Given the description of an element on the screen output the (x, y) to click on. 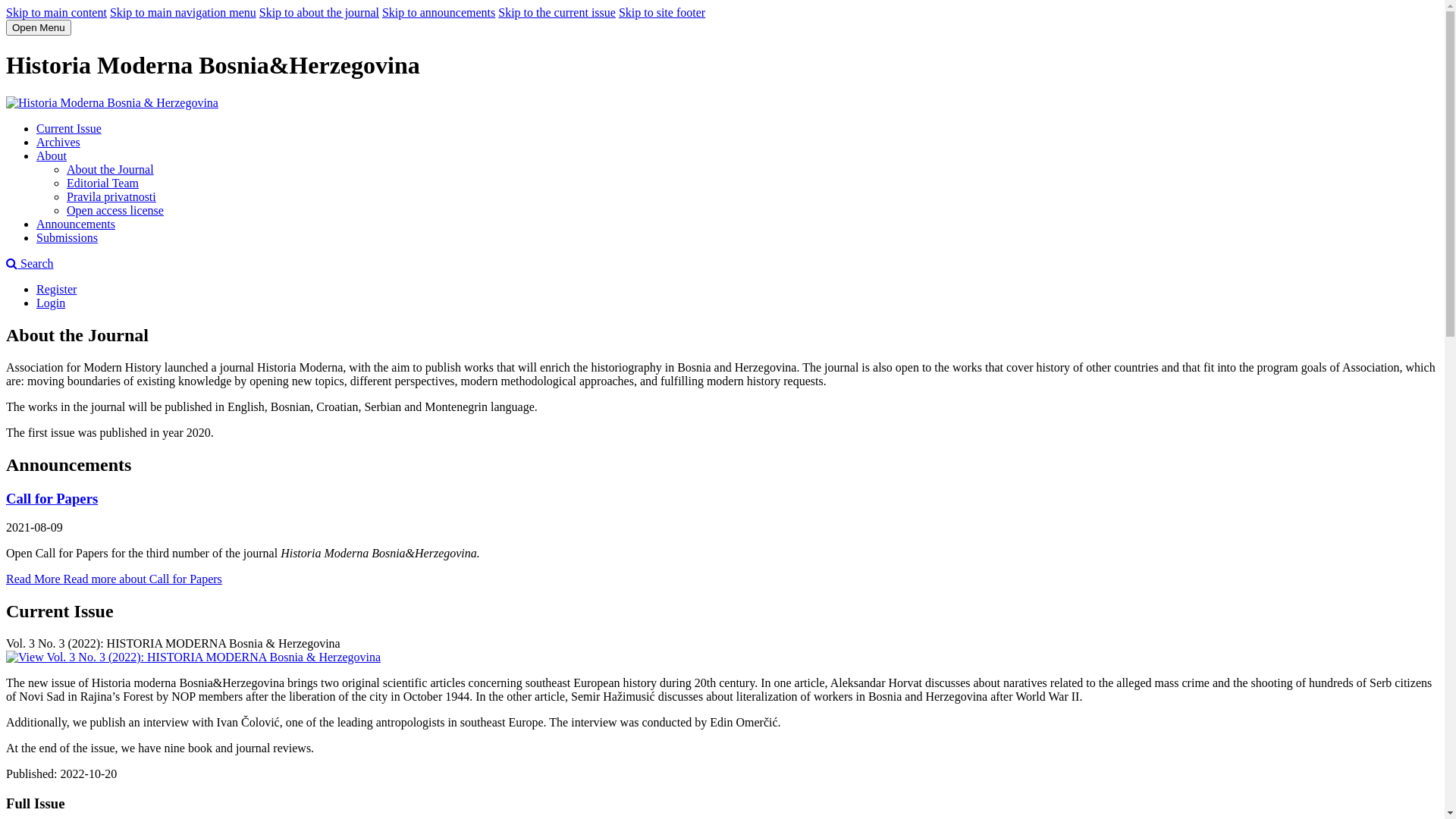
Skip to about the journal Element type: text (319, 12)
About the Journal Element type: text (109, 169)
Announcements Element type: text (75, 223)
Skip to main content Element type: text (56, 12)
Open access license Element type: text (114, 209)
Call for Papers Element type: text (51, 497)
Skip to announcements Element type: text (438, 12)
Read More Read more about Call for Papers Element type: text (114, 578)
Login Element type: text (50, 302)
Skip to site footer Element type: text (661, 12)
Submissions Element type: text (66, 237)
Skip to the current issue Element type: text (556, 12)
Editorial Team Element type: text (102, 182)
Pravila privatnosti Element type: text (111, 196)
Search Element type: text (29, 263)
Archives Element type: text (58, 141)
Current Issue Element type: text (68, 128)
Skip to main navigation menu Element type: text (182, 12)
About Element type: text (51, 155)
Open Menu Element type: text (38, 27)
Register Element type: text (56, 288)
